Given the description of an element on the screen output the (x, y) to click on. 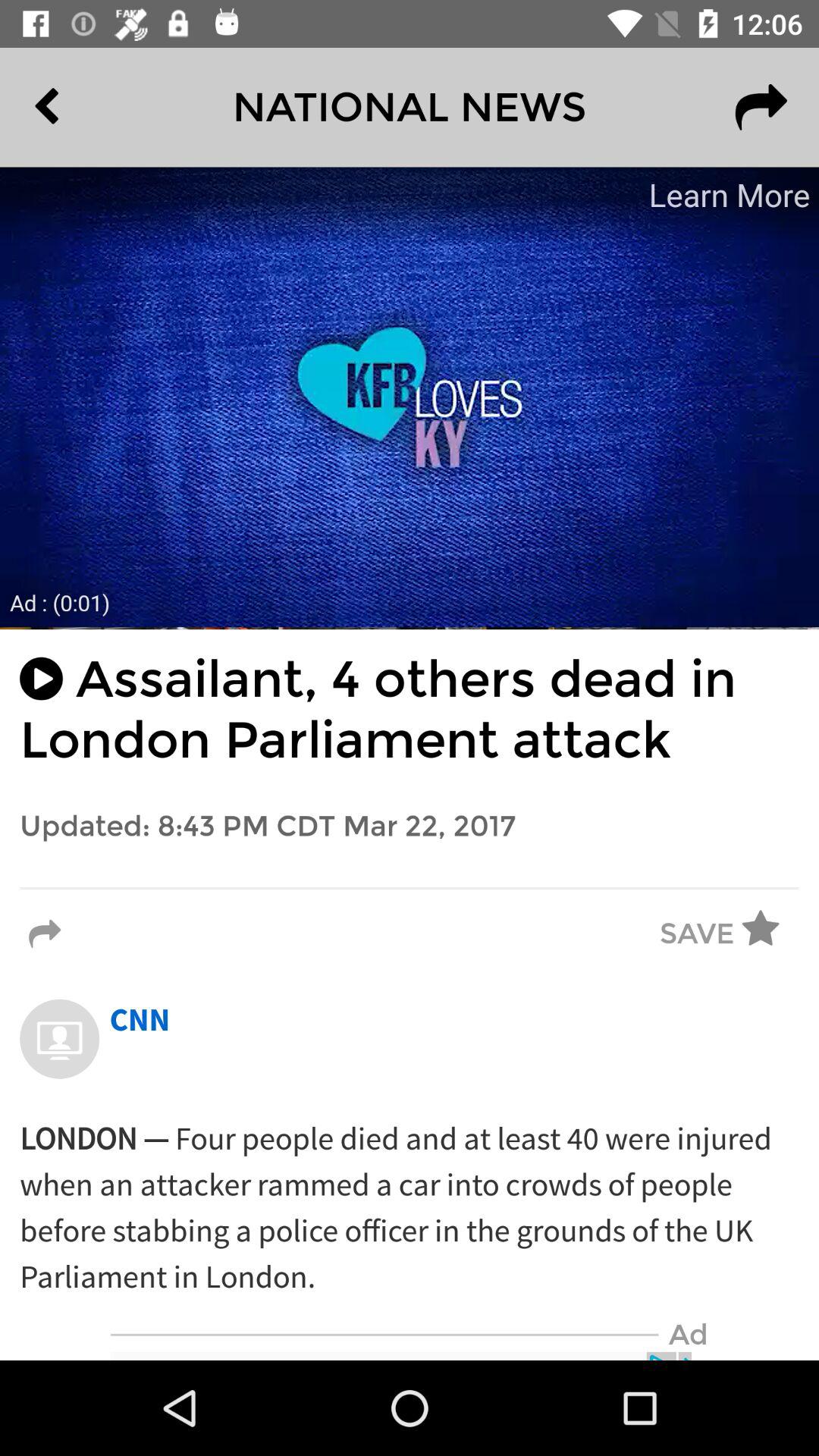
tap the assailant 4 others icon (409, 709)
